Given the description of an element on the screen output the (x, y) to click on. 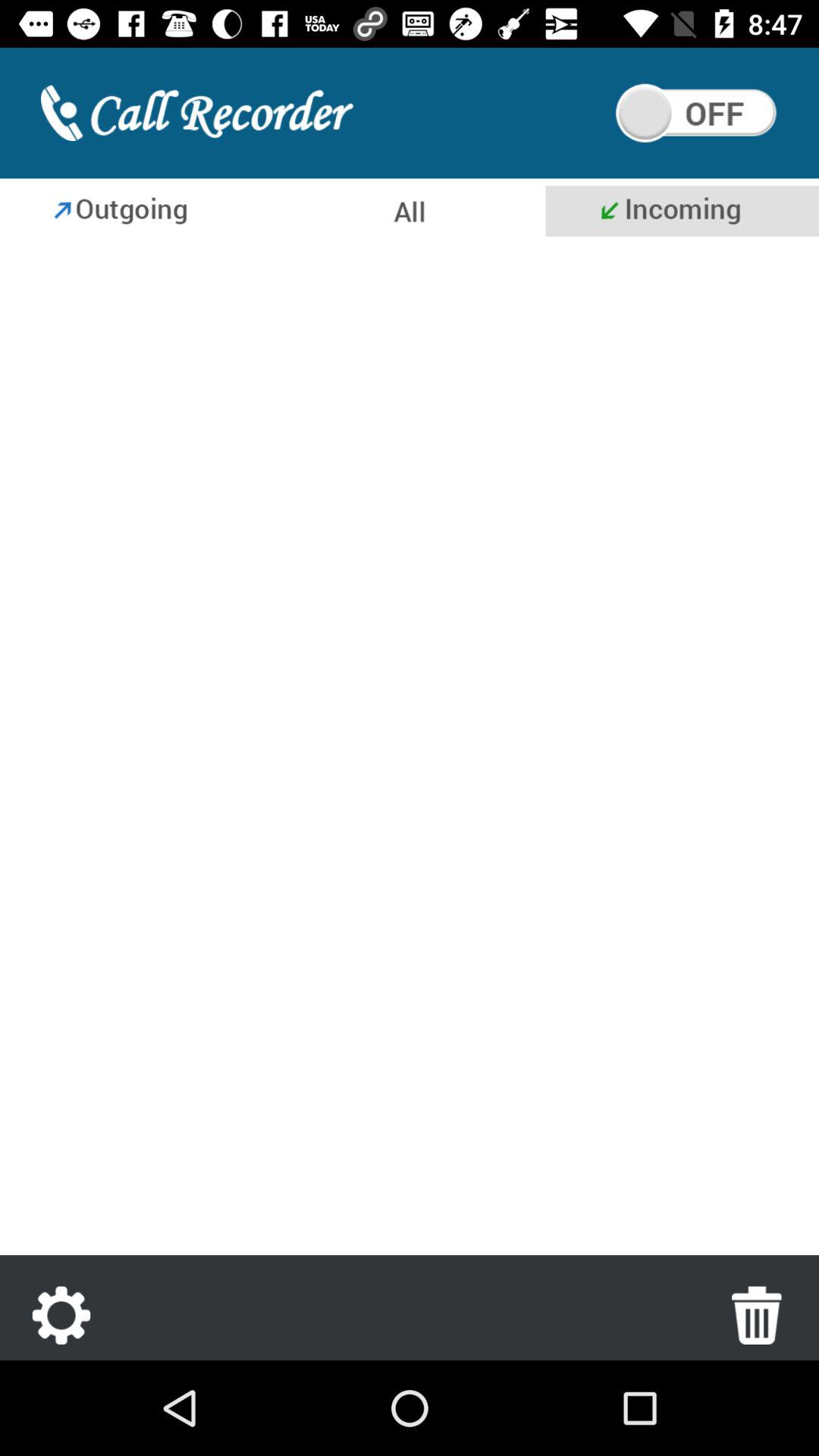
call recording is switched off (696, 112)
